Given the description of an element on the screen output the (x, y) to click on. 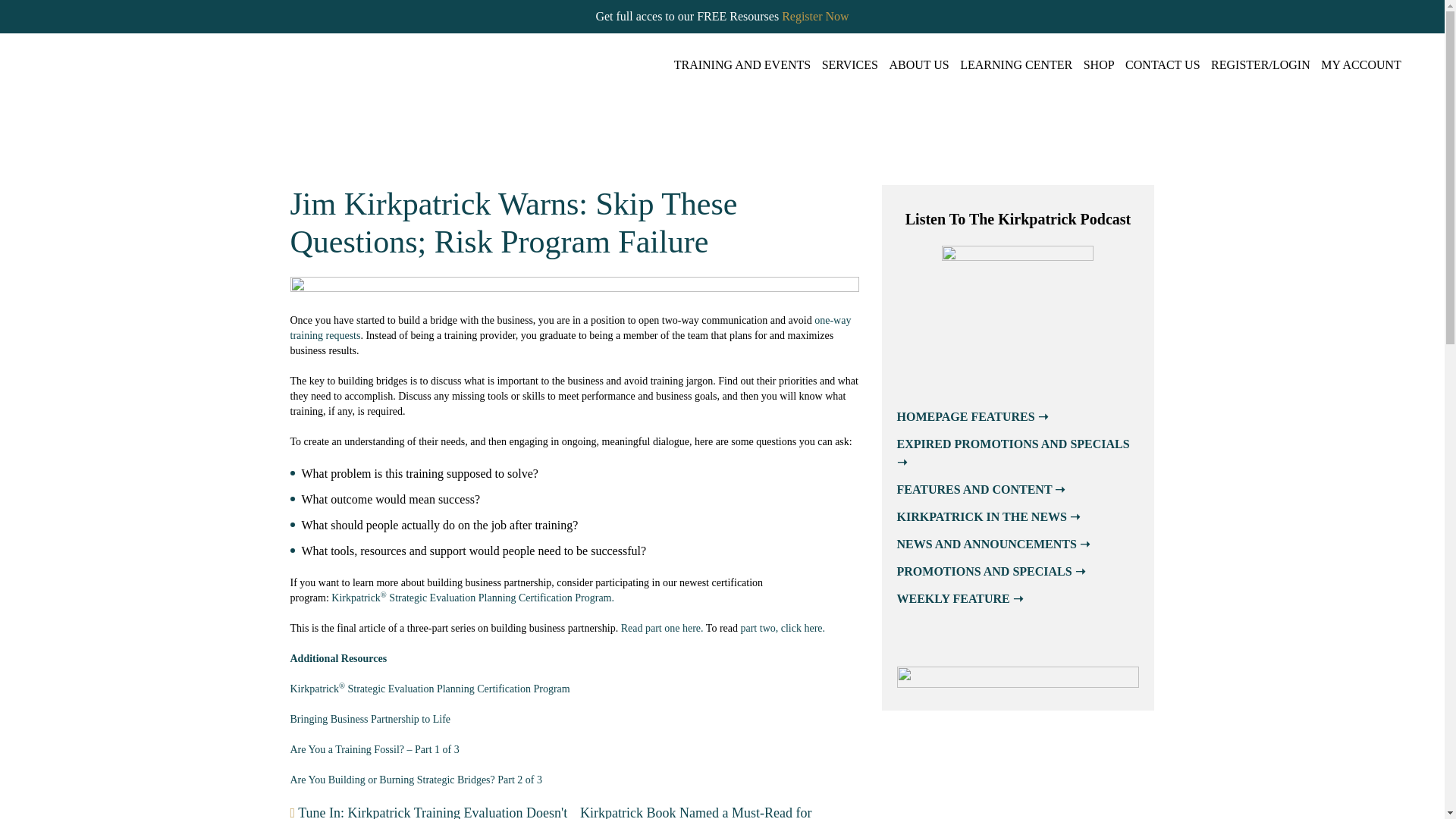
Register Now (814, 15)
SHOP (1099, 64)
one-way training requests (569, 327)
Bringing Business Partnership to Life (369, 718)
CONTACT US (1162, 64)
Read part one here. (662, 627)
Are You Building or Burning Strategic Bridges? Part 2 of 3 (415, 779)
MY ACCOUNT (1360, 64)
TRAINING AND EVENTS (742, 64)
